Given the description of an element on the screen output the (x, y) to click on. 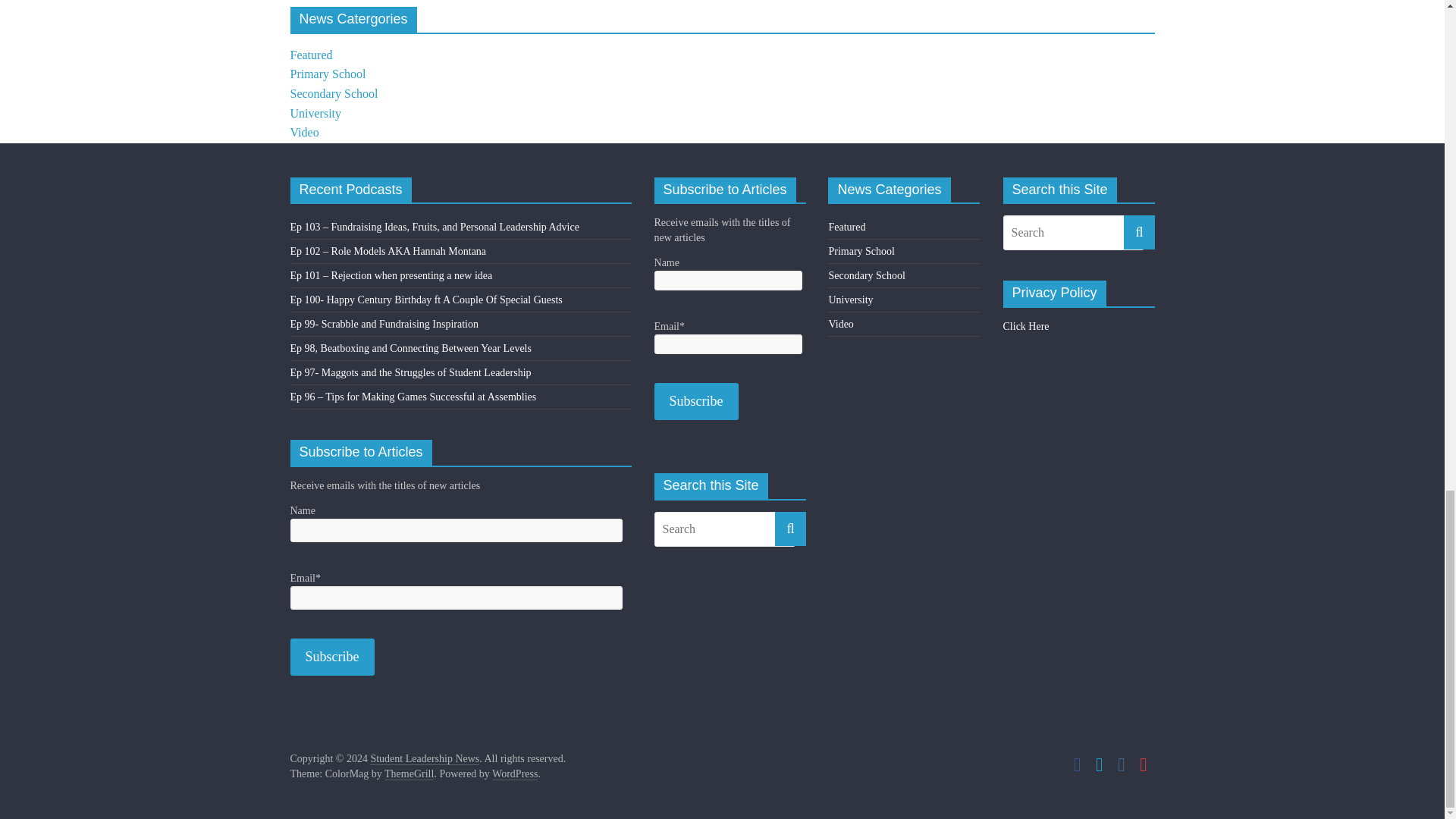
Student Leadership News (424, 758)
Subscribe (695, 401)
Subscribe (331, 656)
WordPress (514, 774)
ThemeGrill (408, 774)
